Given the description of an element on the screen output the (x, y) to click on. 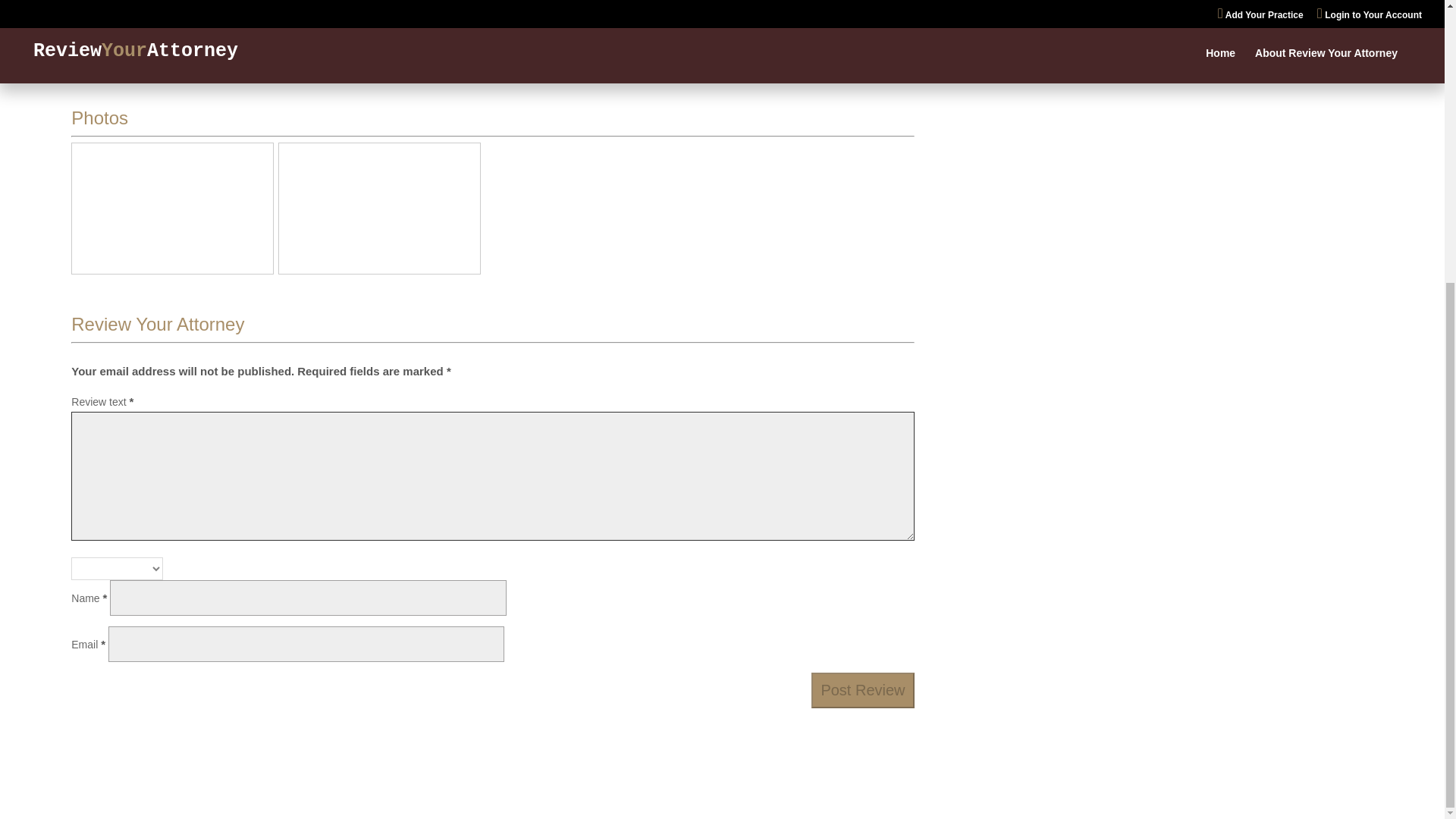
Post Review (862, 690)
414-276-6666 (522, 13)
Photos (99, 117)
Review Your Attorney (157, 323)
Post Review (862, 690)
